Given the description of an element on the screen output the (x, y) to click on. 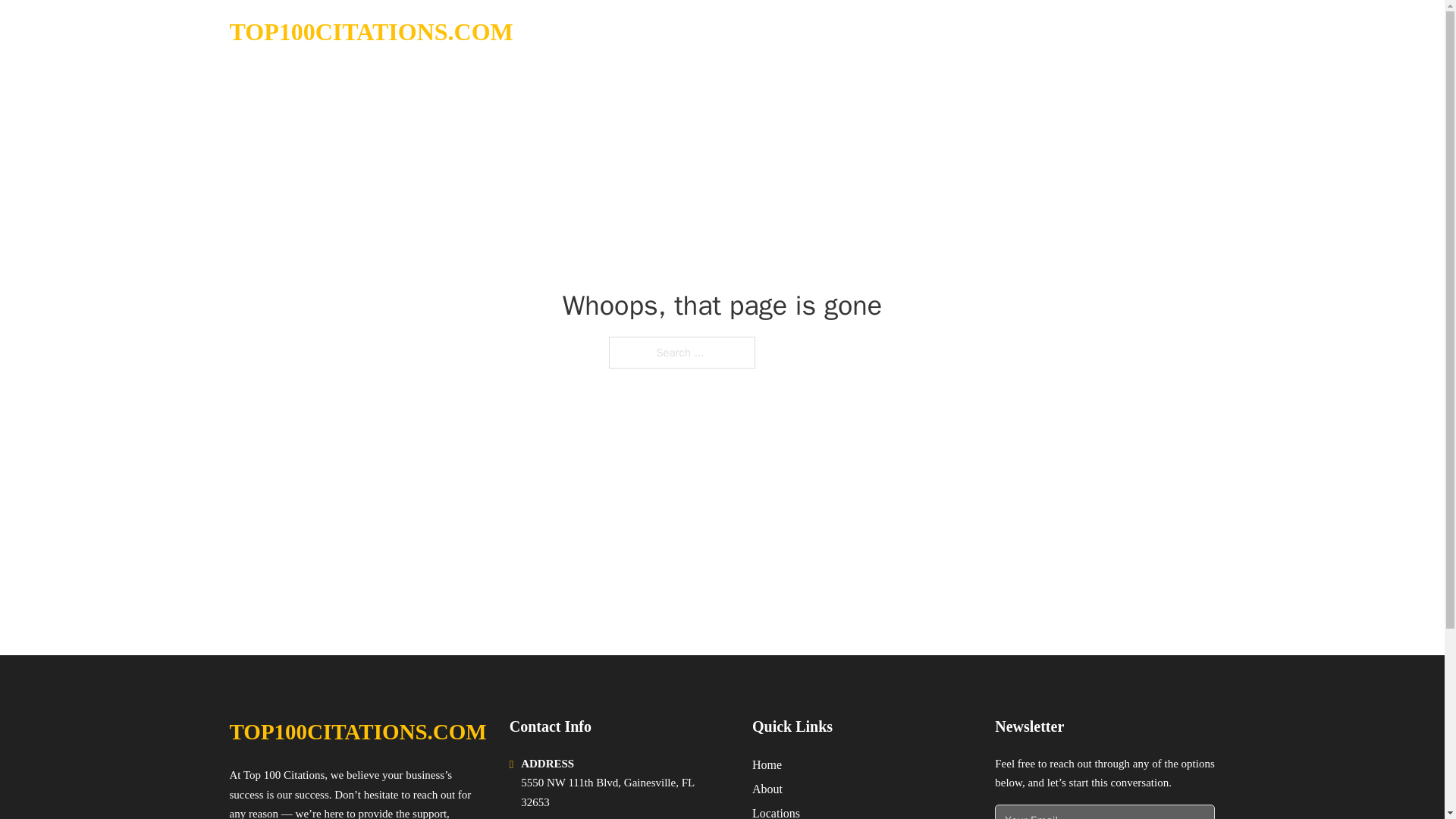
LOCATIONS (1098, 31)
Home (766, 764)
About (767, 788)
TOP100CITATIONS.COM (357, 732)
Locations (775, 811)
TOP100CITATIONS.COM (370, 31)
HOME (1025, 31)
